Given the description of an element on the screen output the (x, y) to click on. 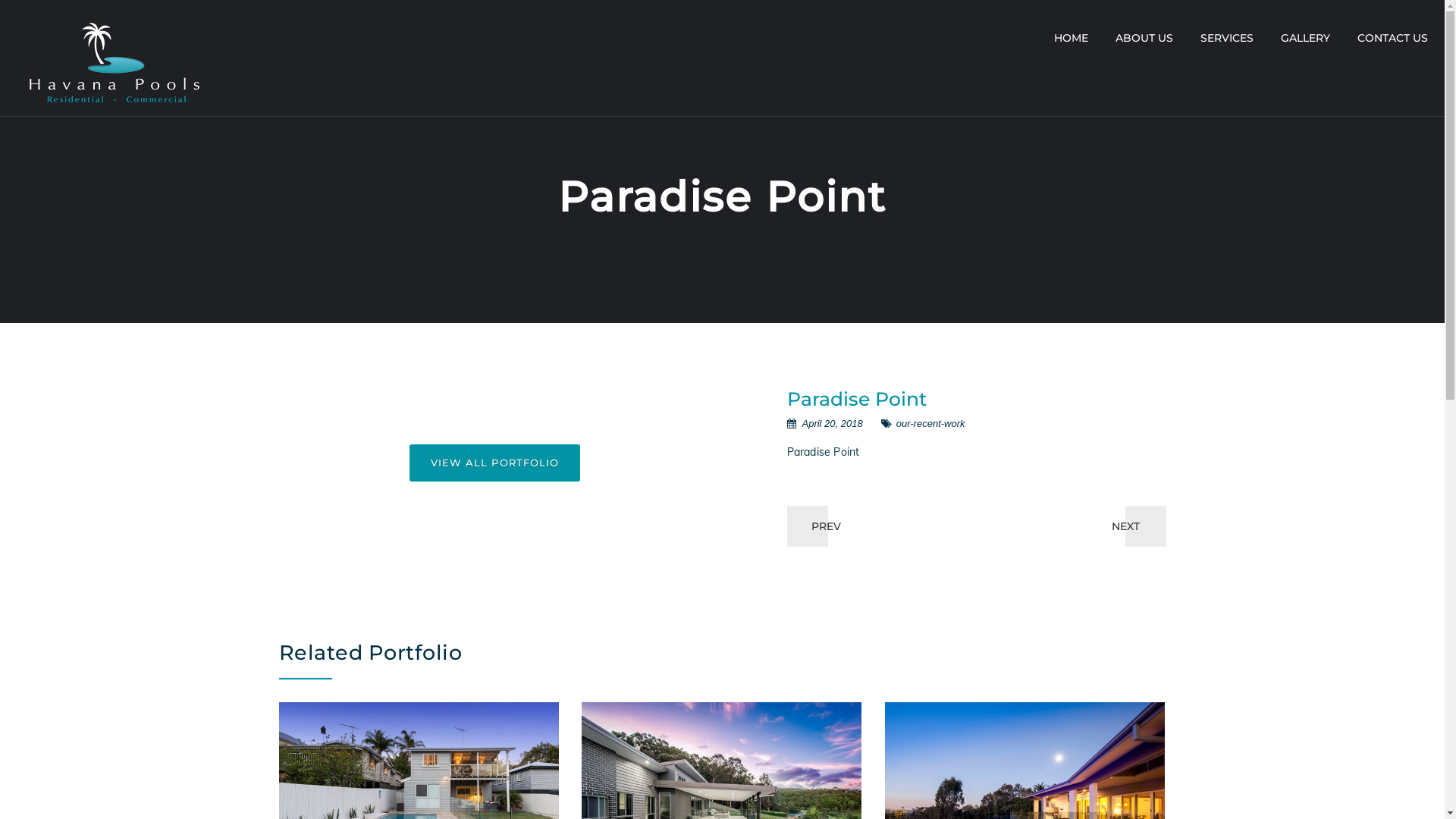
April 20, 2018 Element type: text (832, 423)
GALLERY Element type: text (1305, 37)
SERVICES Element type: text (1226, 37)
Skip to content Element type: text (0, 0)
NEXT Element type: text (1125, 525)
our-recent-work Element type: text (930, 423)
PREV Element type: text (825, 525)
ABOUT US Element type: text (1144, 37)
CONTACT US Element type: text (1392, 37)
HOME Element type: text (1071, 37)
VIEW ALL PORTFOLIO Element type: text (494, 462)
